Given the description of an element on the screen output the (x, y) to click on. 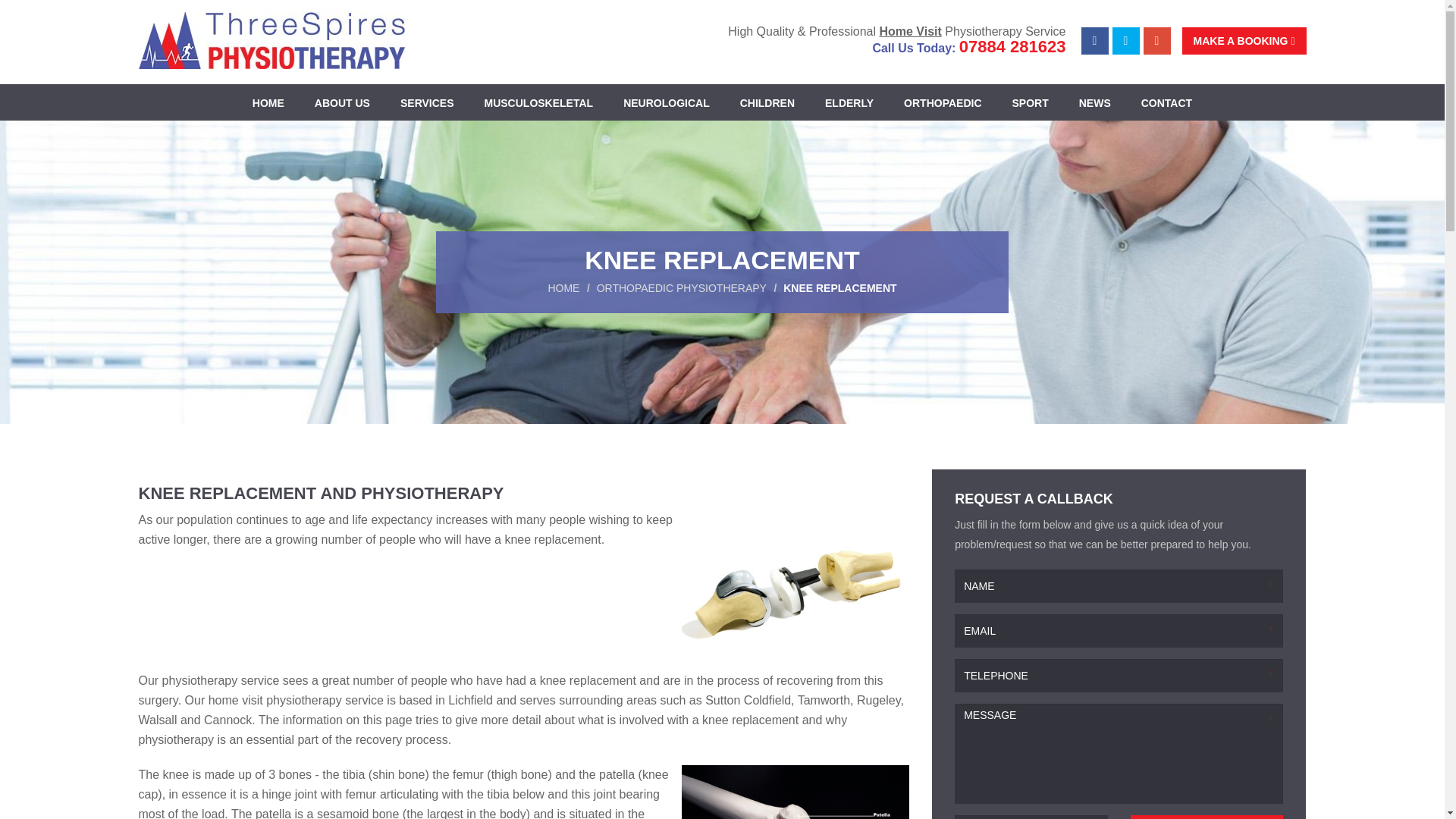
Booking (1244, 40)
MAKE A BOOKING (1244, 40)
Follow us on Twitter (1126, 40)
SERVICES (426, 103)
ABOUT US (342, 103)
Follow us on Google Plus (1156, 40)
Call Us Today (1012, 46)
Home (268, 103)
Our Services (426, 103)
07884 281623 (1012, 46)
About Us (342, 103)
ThreeSpires Physiotherapy (271, 39)
HOME (268, 103)
Follow us on Facebook (1094, 40)
